Given the description of an element on the screen output the (x, y) to click on. 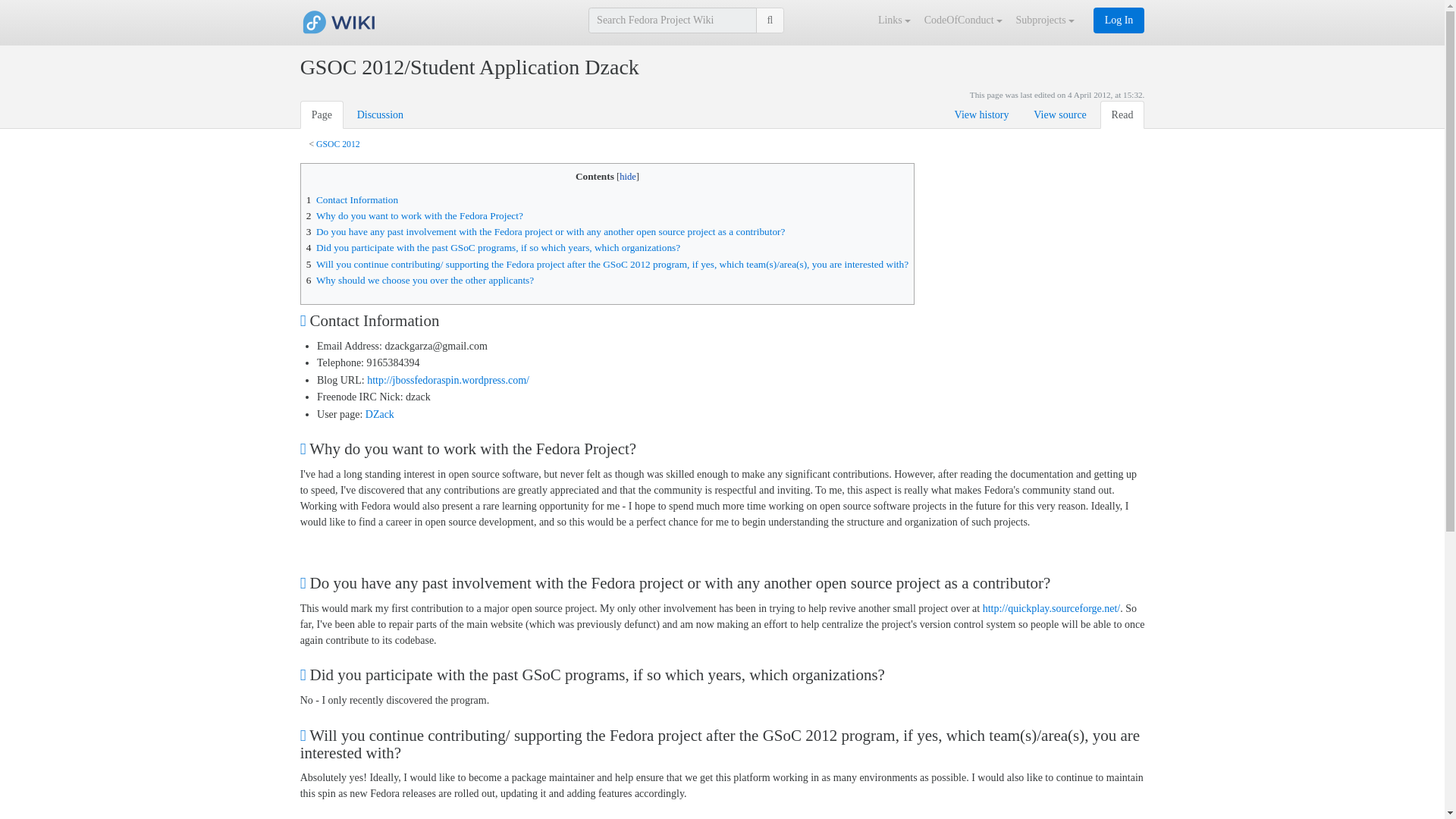
Subprojects (1046, 19)
Links (895, 19)
Discussion (380, 114)
Page (321, 114)
CodeOfConduct (965, 19)
GSOC 2012 (337, 144)
Read (1122, 114)
DZack (379, 414)
GSOC 2012 (337, 144)
6 Why should we choose you over the other applicants? (419, 279)
2 Why do you want to work with the Fedora Project? (413, 215)
1 Contact Information (351, 199)
View history (981, 114)
